Given the description of an element on the screen output the (x, y) to click on. 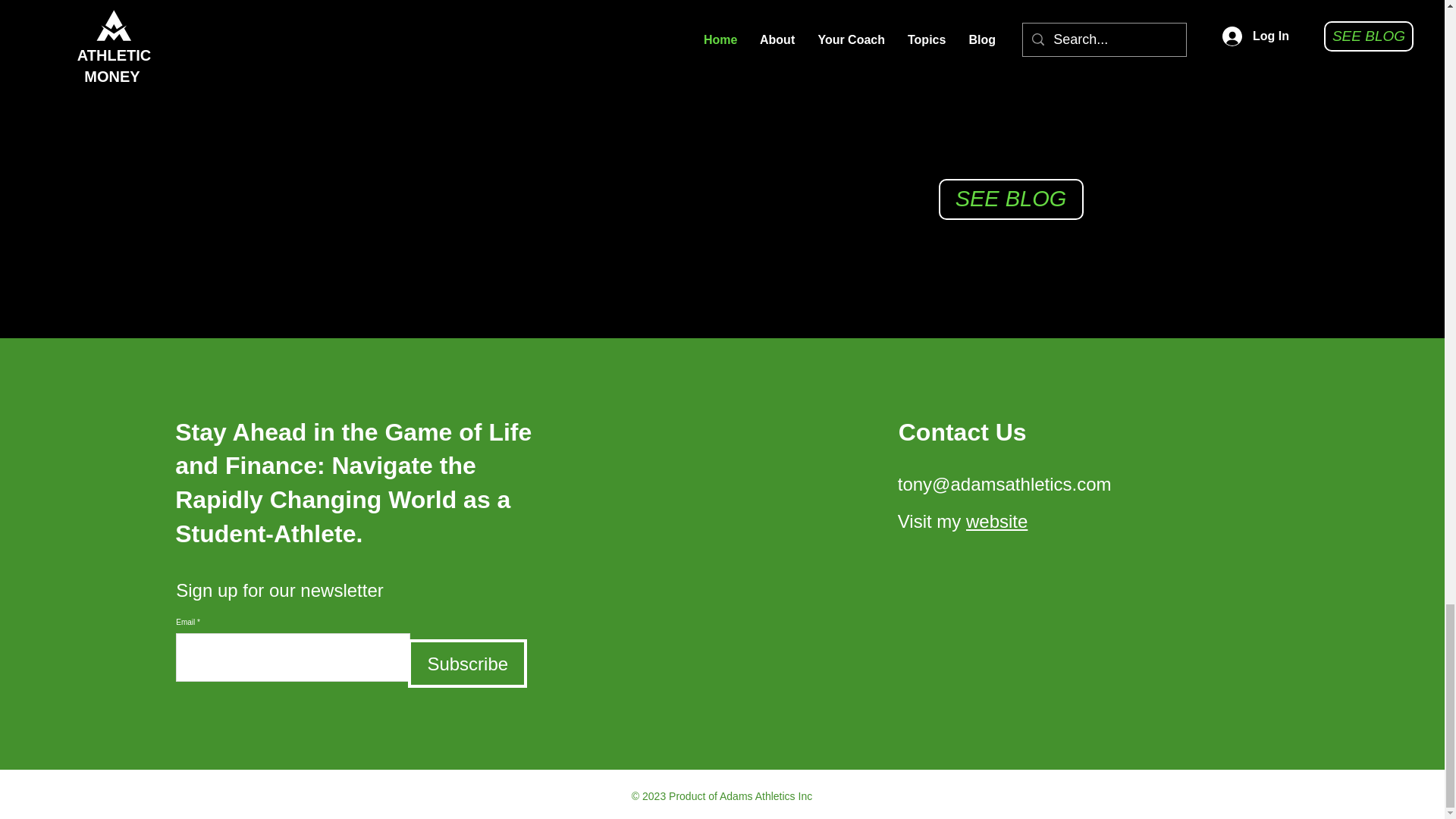
website (996, 521)
SEE BLOG (1011, 199)
Subscribe (467, 663)
